Given the description of an element on the screen output the (x, y) to click on. 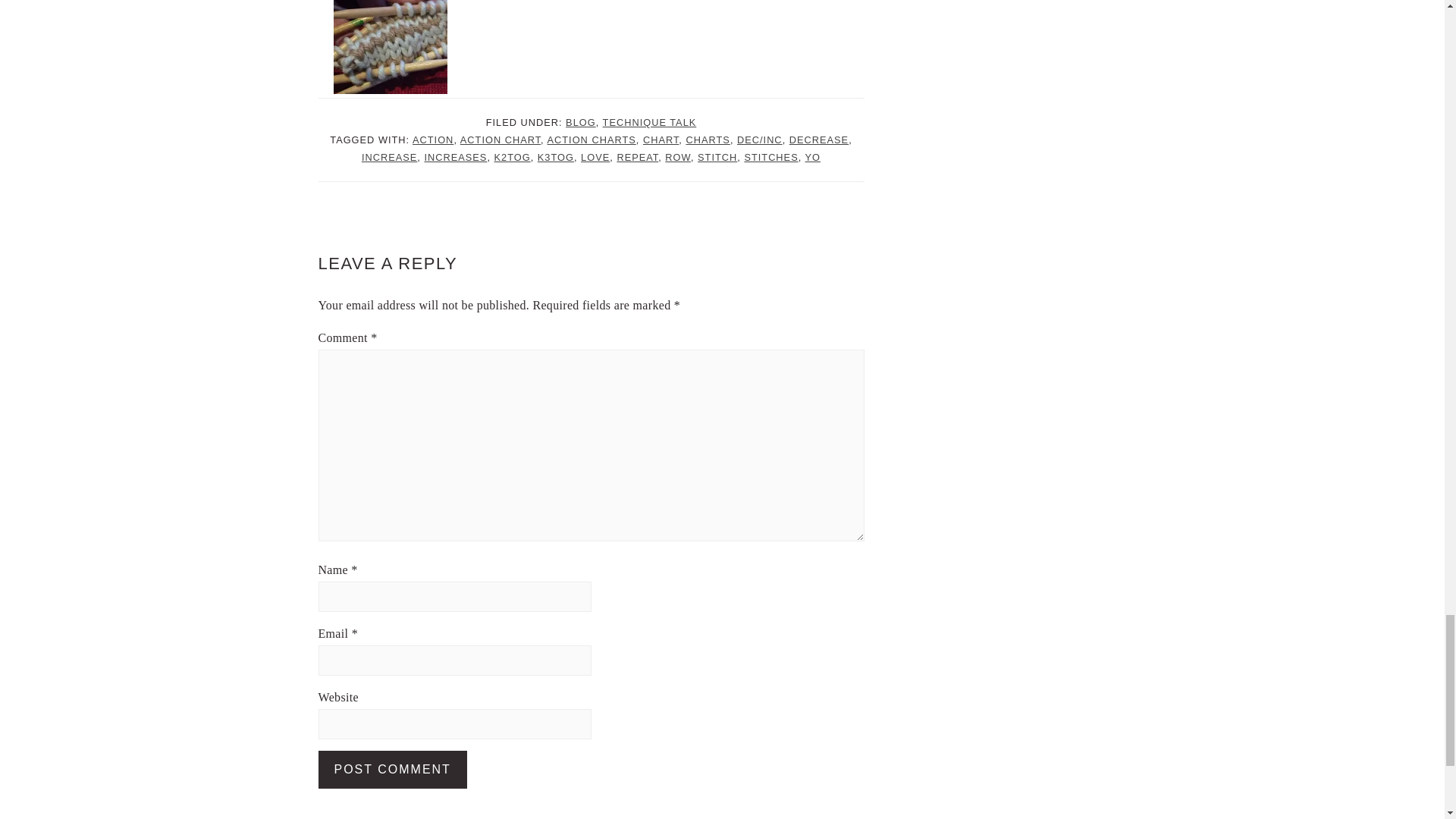
Returning to Favorite Techniques (389, 47)
Post Comment (392, 769)
